Given the description of an element on the screen output the (x, y) to click on. 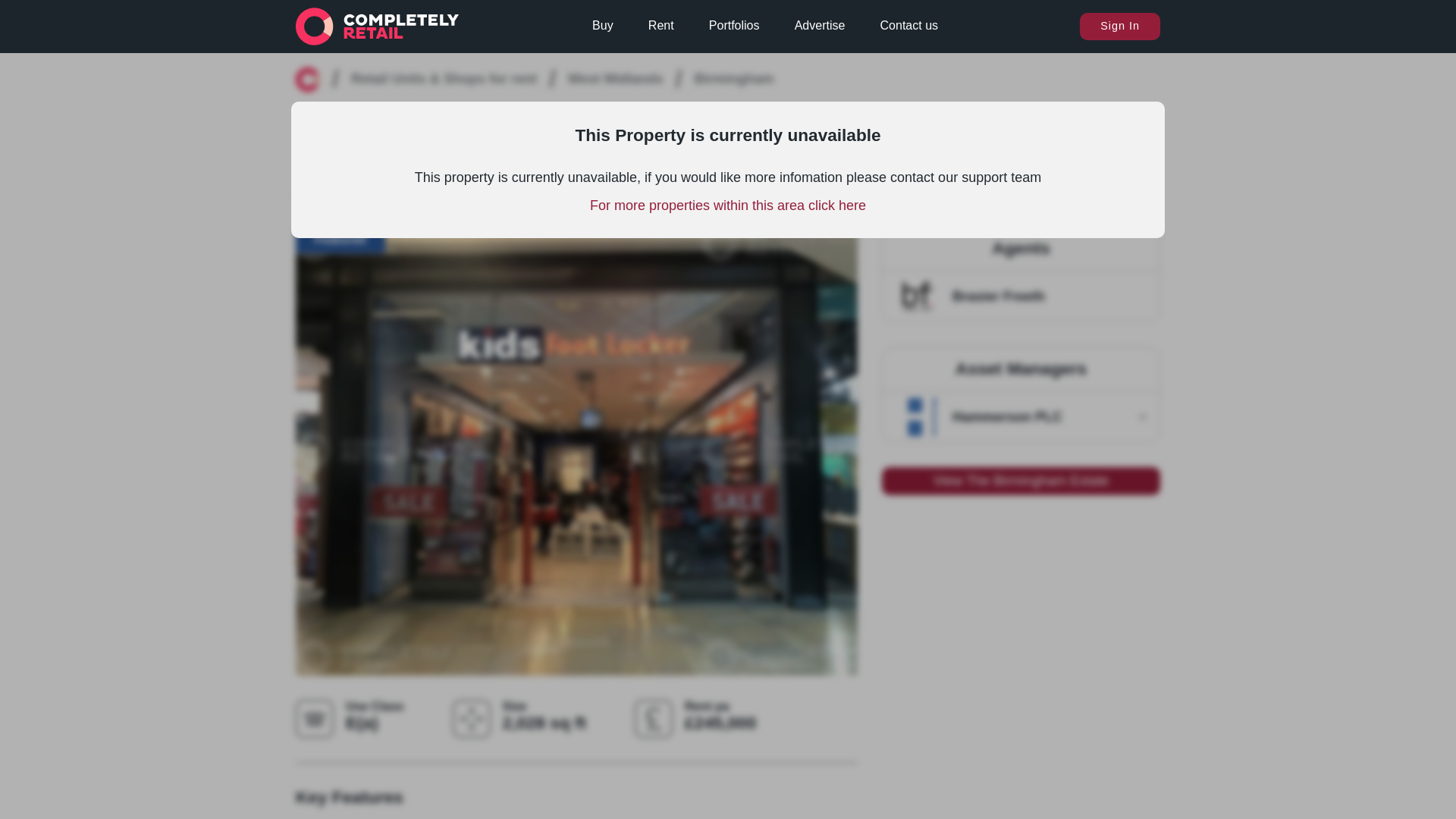
Birmingham (733, 79)
Rent (660, 26)
For more properties within this area click here (727, 205)
Contact us (908, 26)
View The Birmingham Estate (1021, 480)
Portfolios (734, 26)
Buy (602, 26)
Featured (340, 239)
West Midlands (615, 79)
Sign In (1120, 26)
